Given the description of an element on the screen output the (x, y) to click on. 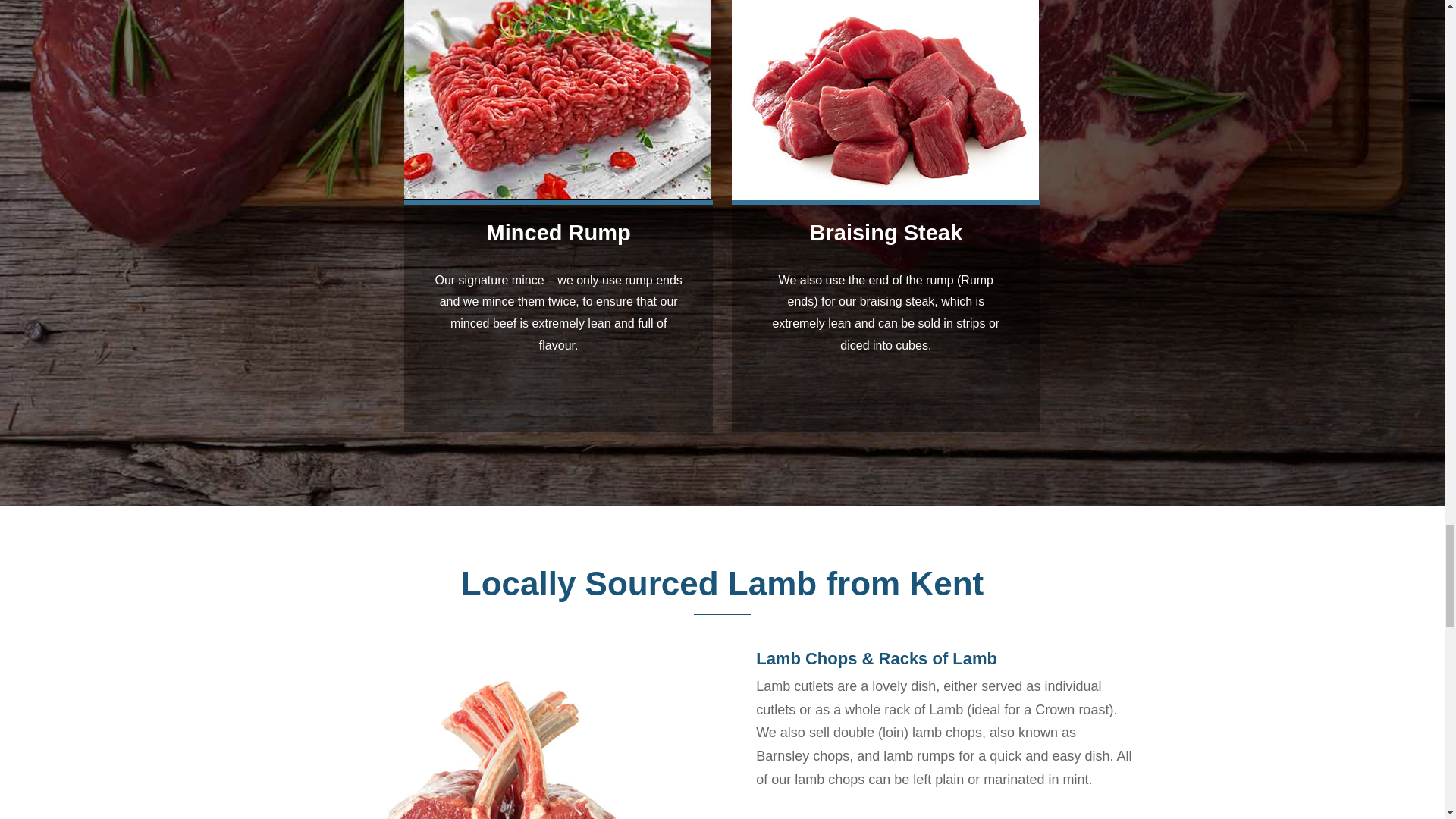
best-butchers-shop-in-surrey (505, 745)
best-lean-beef-mince (557, 100)
best-meat-for-braising-steak (885, 100)
